Given the description of an element on the screen output the (x, y) to click on. 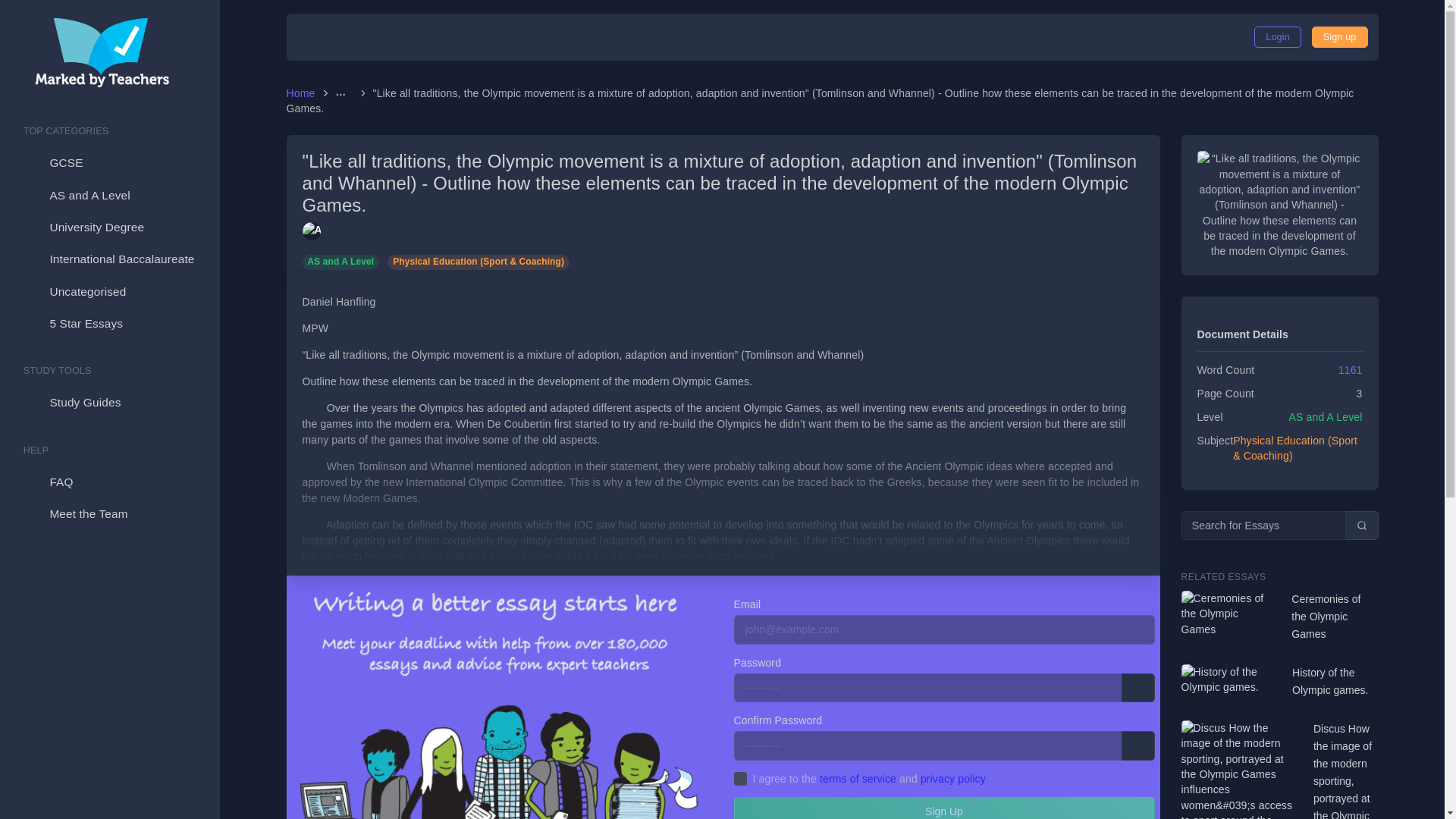
Quick search (1361, 525)
Ceremonies of the Olympic Games (1334, 616)
International Baccalaureate (109, 259)
AS and A Level (344, 260)
Study Guides (109, 402)
Ceremonies of the Olympic Games (1334, 616)
Sign Up (1339, 36)
International Baccalaureate (109, 259)
FAQ (109, 481)
on (740, 778)
Sign Up (943, 807)
Home (302, 92)
5 Star Essays (109, 323)
Home (302, 92)
privacy policy (952, 778)
